Given the description of an element on the screen output the (x, y) to click on. 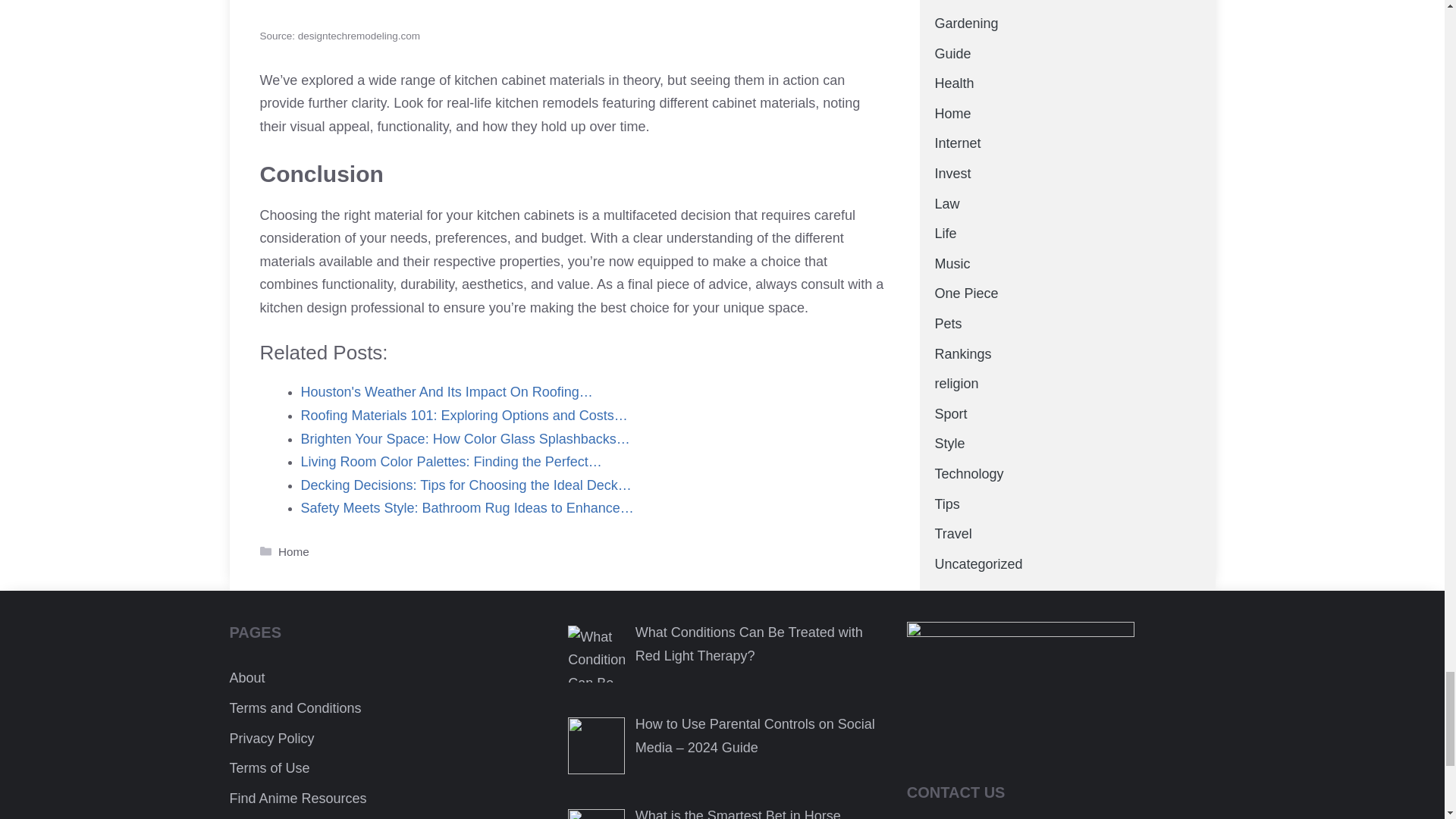
Home (293, 551)
